Given the description of an element on the screen output the (x, y) to click on. 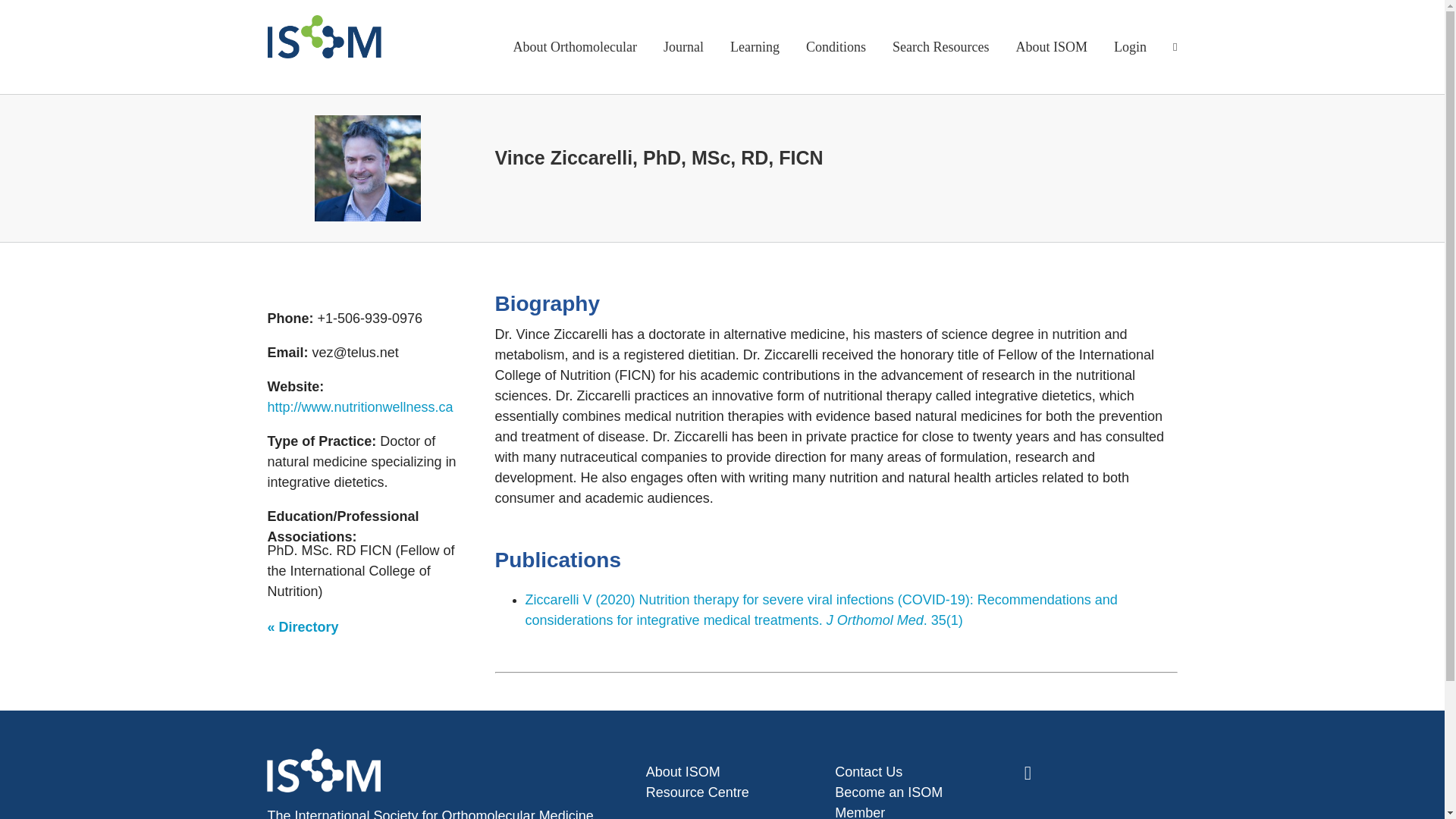
About ISOM (1051, 46)
About Orthomolecular (575, 46)
ISOM-logo-400 (323, 770)
Conditions (836, 46)
Search Resources (940, 46)
